Given the description of an element on the screen output the (x, y) to click on. 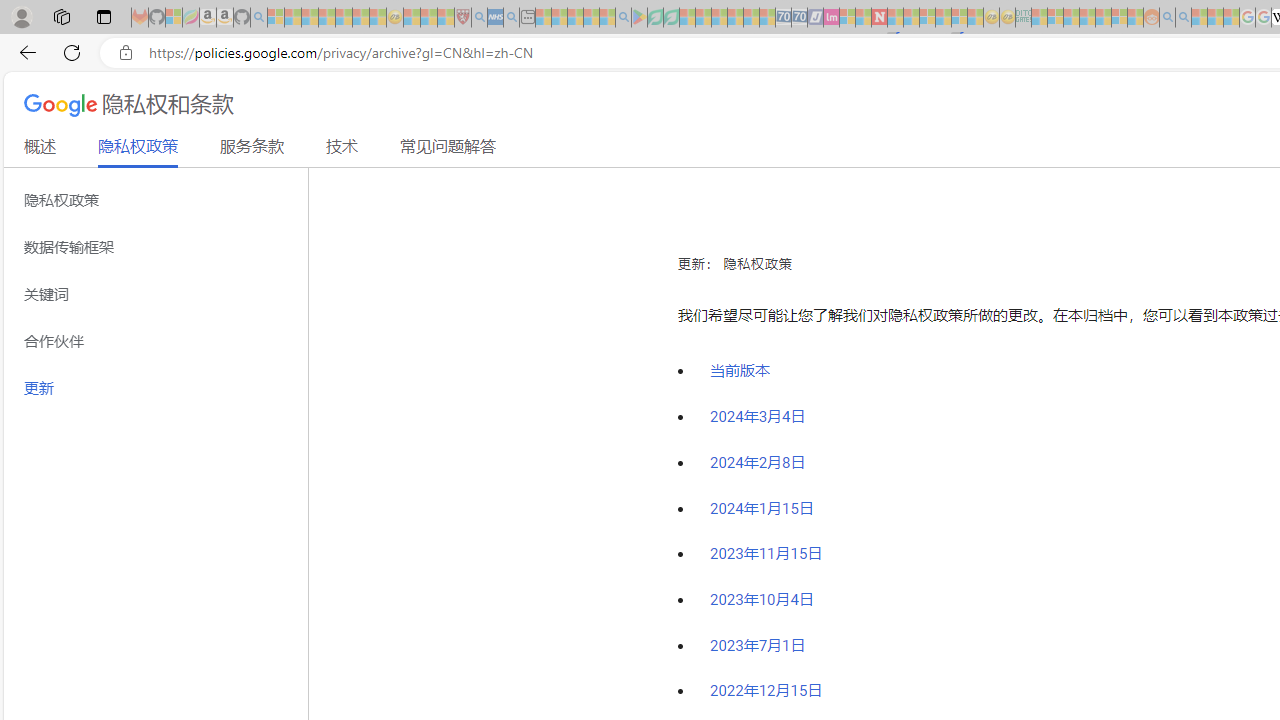
Recipes - MSN - Sleeping (411, 17)
utah sues federal government - Search - Sleeping (511, 17)
Local - MSN - Sleeping (445, 17)
Pets - MSN - Sleeping (591, 17)
